Given the description of an element on the screen output the (x, y) to click on. 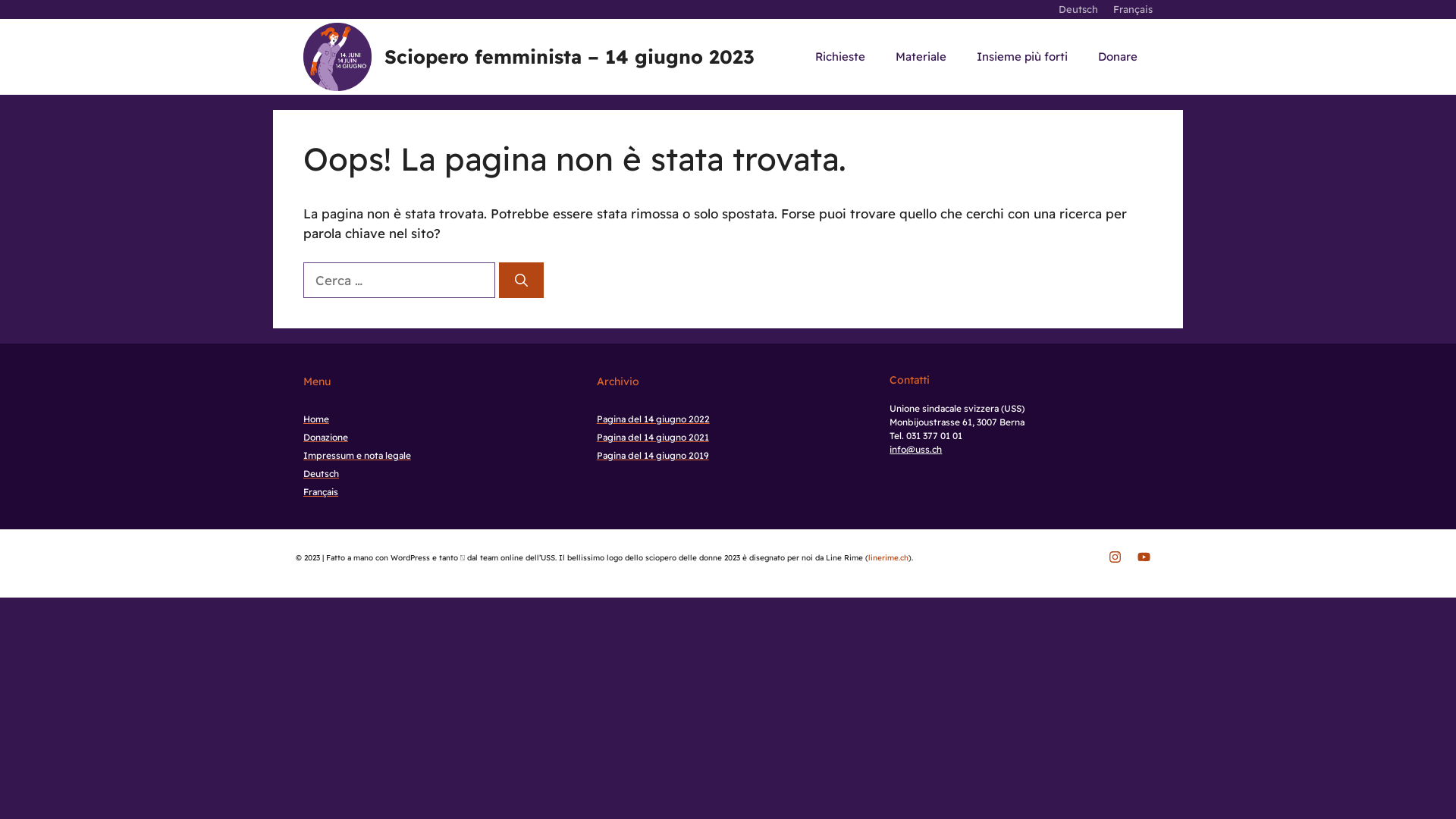
Pagina del 14 giugno 2022 Element type: text (652, 418)
Deutsch Element type: text (320, 473)
linerime.ch Element type: text (888, 557)
info@uss.ch Element type: text (915, 449)
Impressum e nota legale Element type: text (357, 455)
Home Element type: text (316, 418)
Deutsch Element type: text (1078, 9)
Ricerca per: Element type: hover (399, 280)
Donazione Element type: text (325, 436)
Pagina del 14 giugno 2021 Element type: text (652, 436)
Materiale Element type: text (920, 56)
Richieste Element type: text (840, 56)
Pagina del 14 giugno 2019 Element type: text (652, 455)
Donare Element type: text (1117, 56)
